Given the description of an element on the screen output the (x, y) to click on. 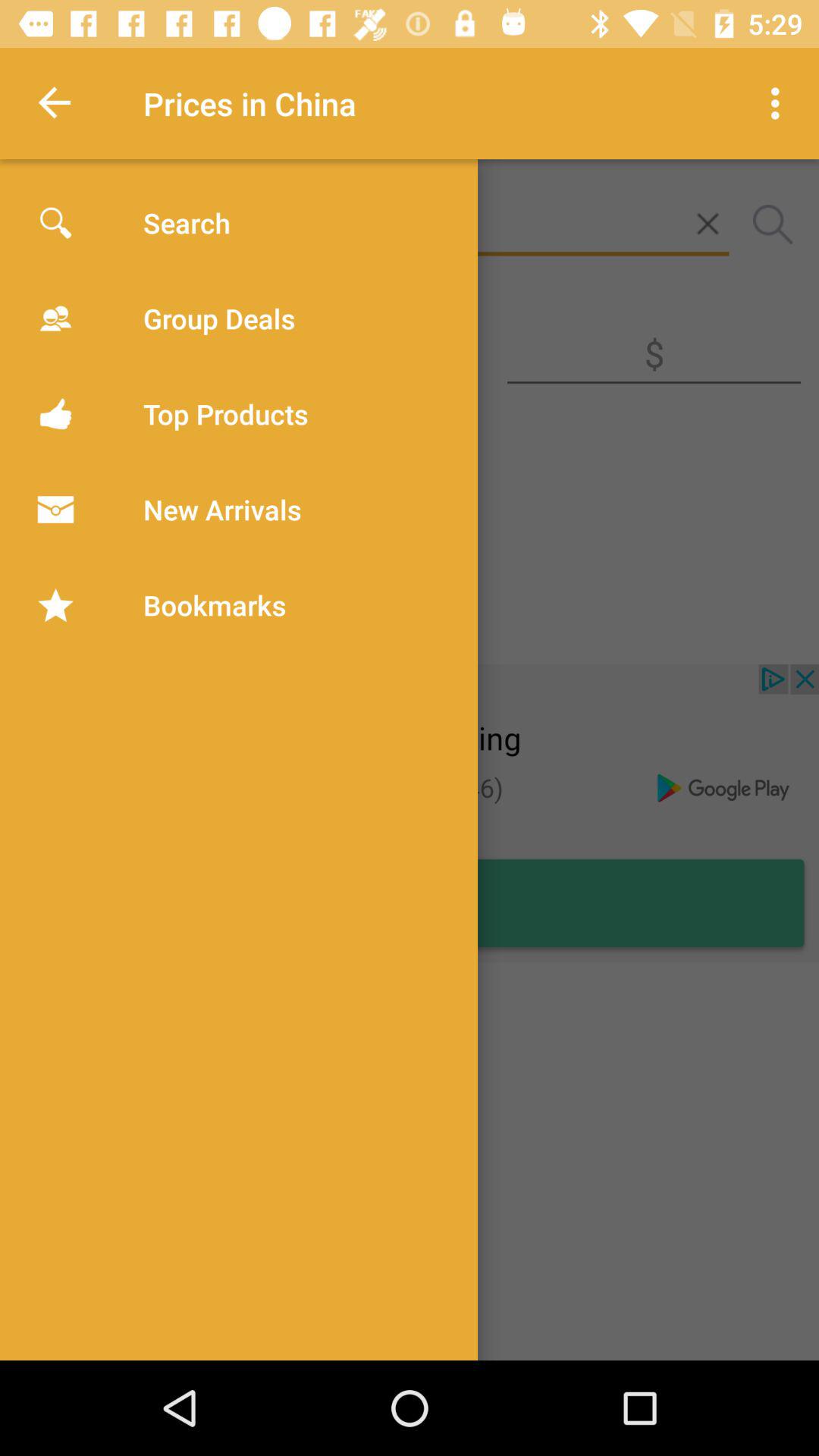
click on the button which is below the new arrivals (136, 622)
